Given the description of an element on the screen output the (x, y) to click on. 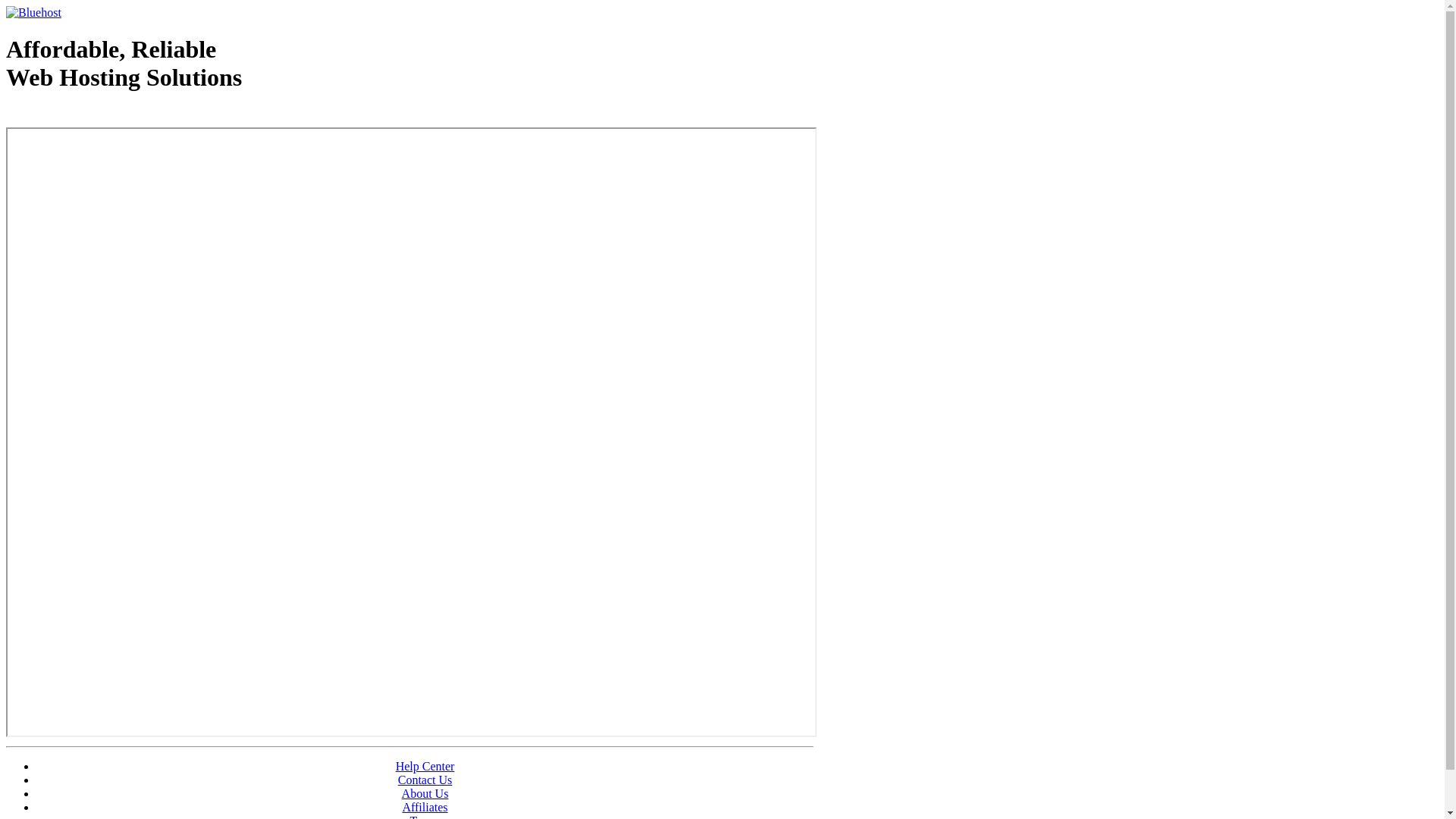
Help Center Element type: text (425, 765)
Affiliates Element type: text (424, 806)
About Us Element type: text (424, 793)
Contact Us Element type: text (425, 779)
Web Hosting - courtesy of www.bluehost.com Element type: text (94, 115)
